Given the description of an element on the screen output the (x, y) to click on. 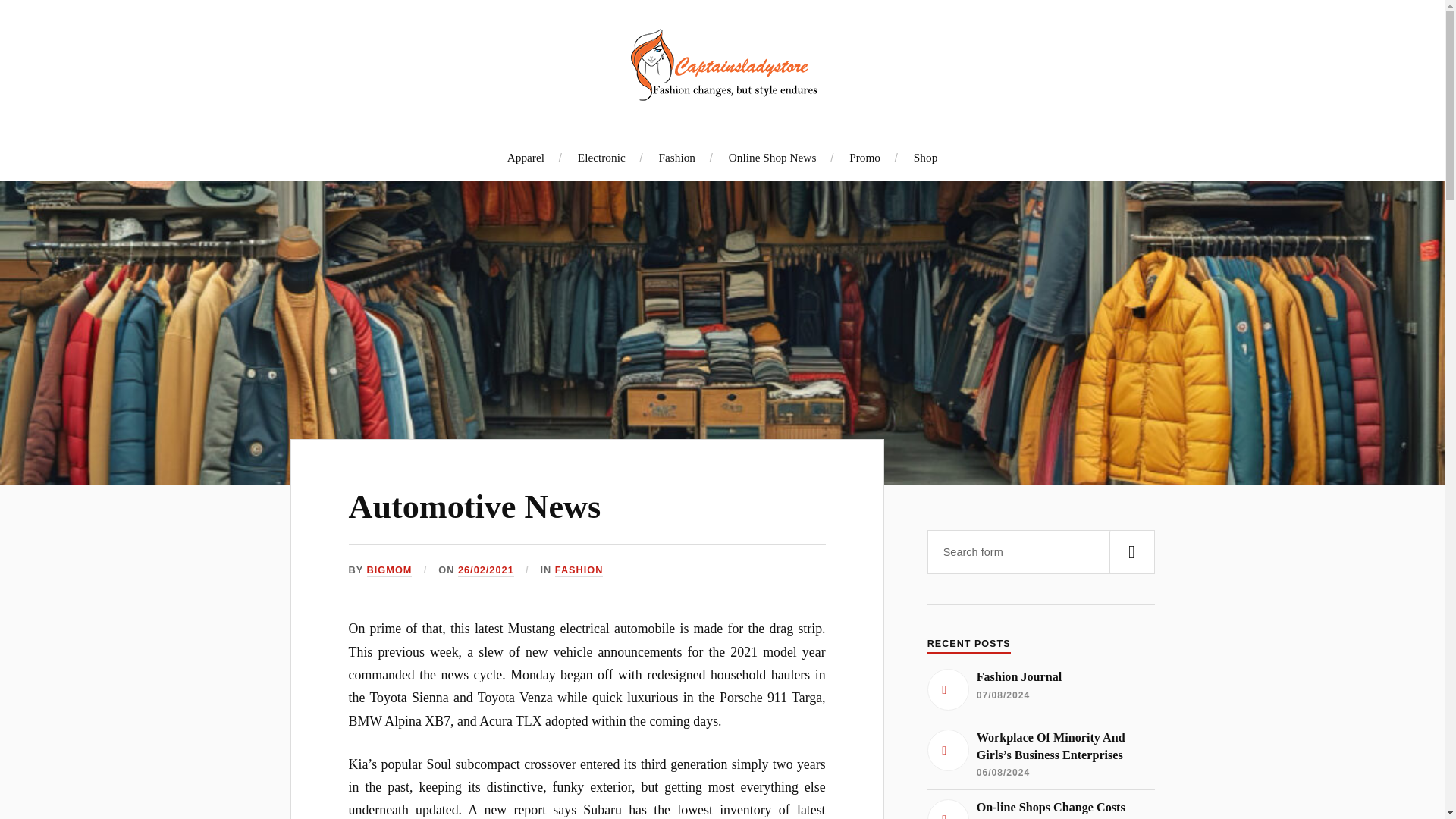
FASHION (579, 570)
Electronic (602, 156)
Posts by Bigmom (389, 570)
Automotive News (475, 506)
Online Shop News (772, 156)
BIGMOM (389, 570)
